Given the description of an element on the screen output the (x, y) to click on. 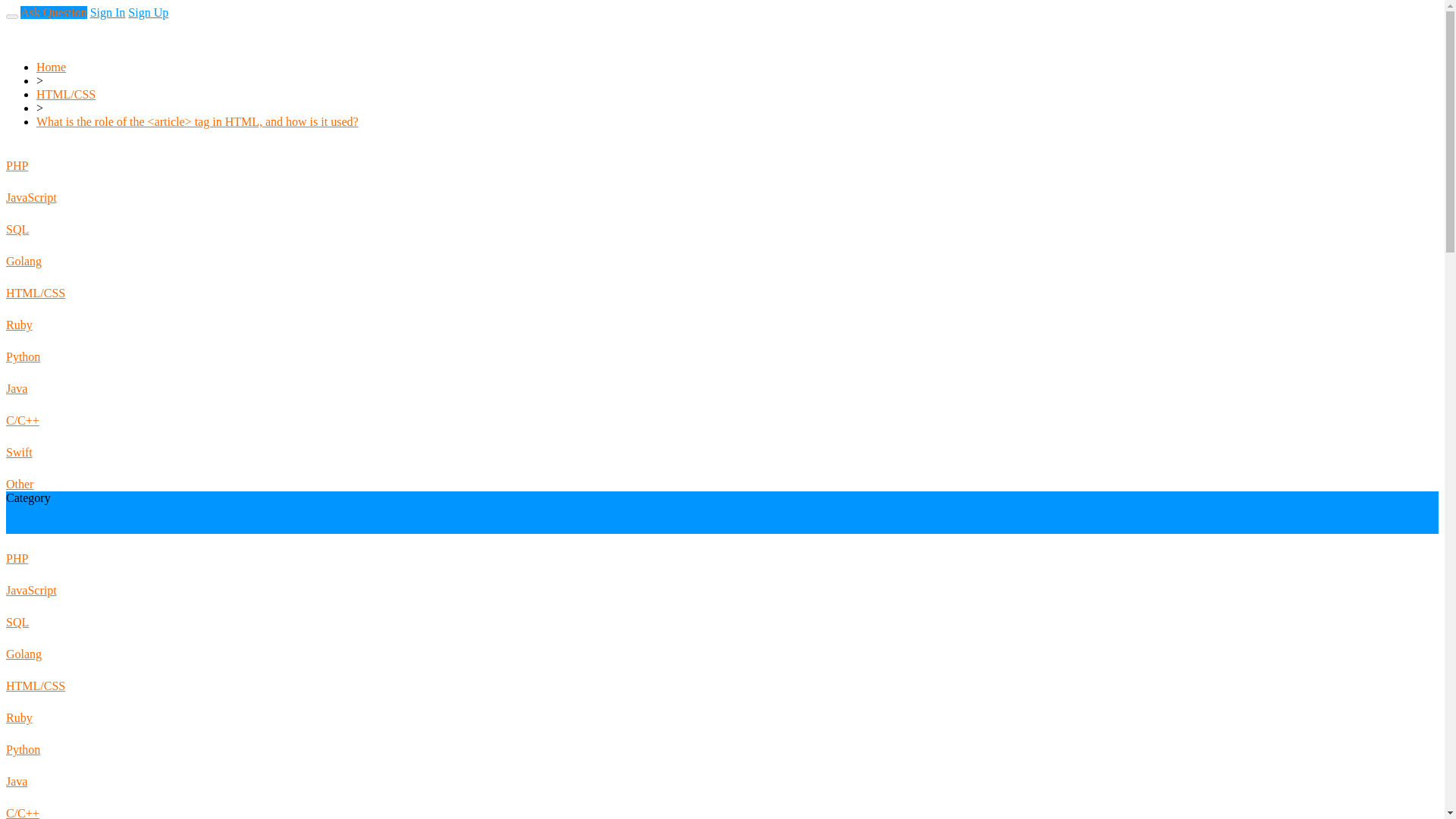
Home (50, 66)
Sign Up (148, 11)
Sign In (107, 11)
Home (2, 26)
Sign Up (2, 53)
Sign In (2, 39)
Ask Question (53, 11)
